Given the description of an element on the screen output the (x, y) to click on. 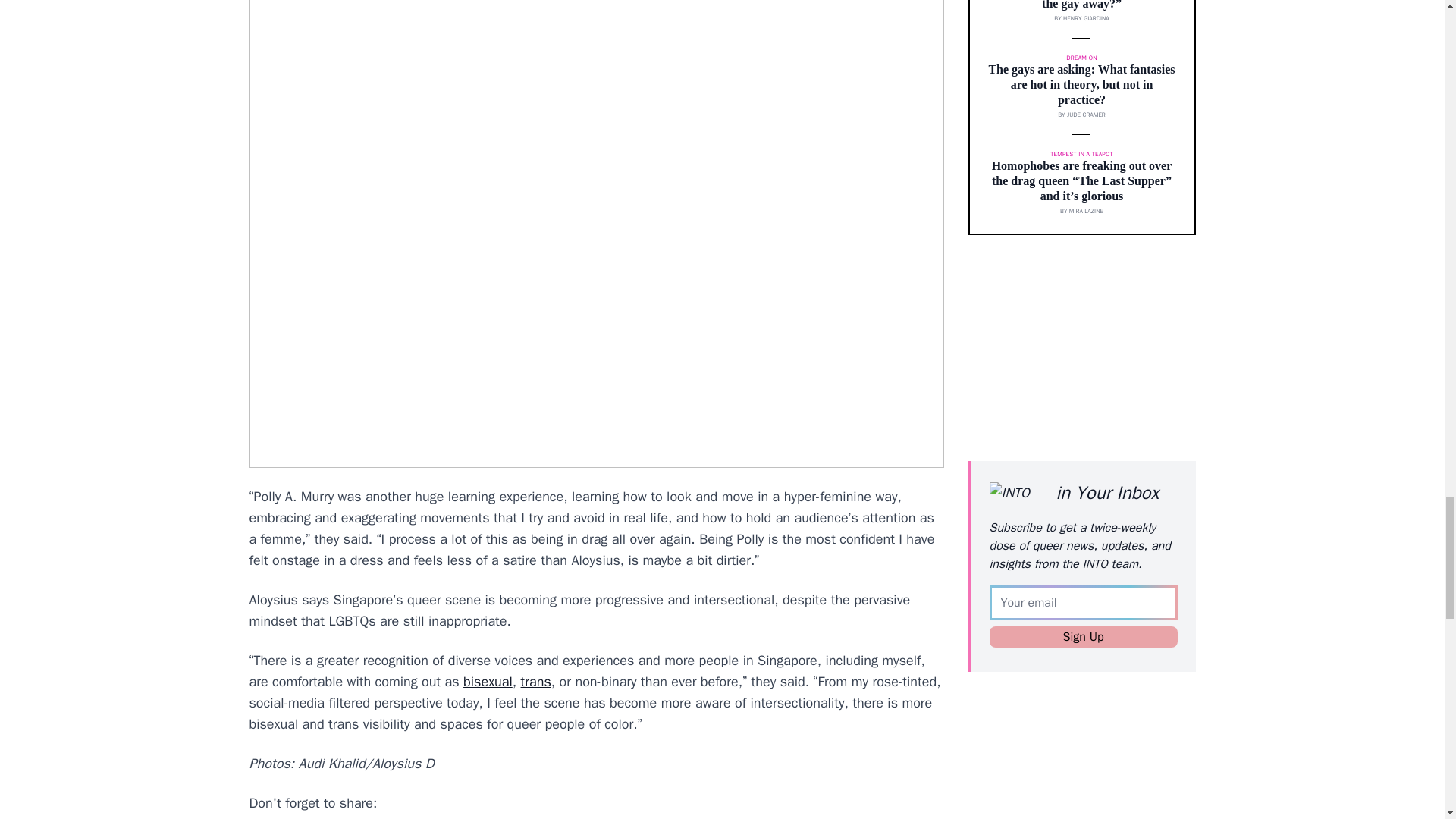
bisexual (487, 681)
trans (536, 681)
Sign Up (1082, 636)
